Given the description of an element on the screen output the (x, y) to click on. 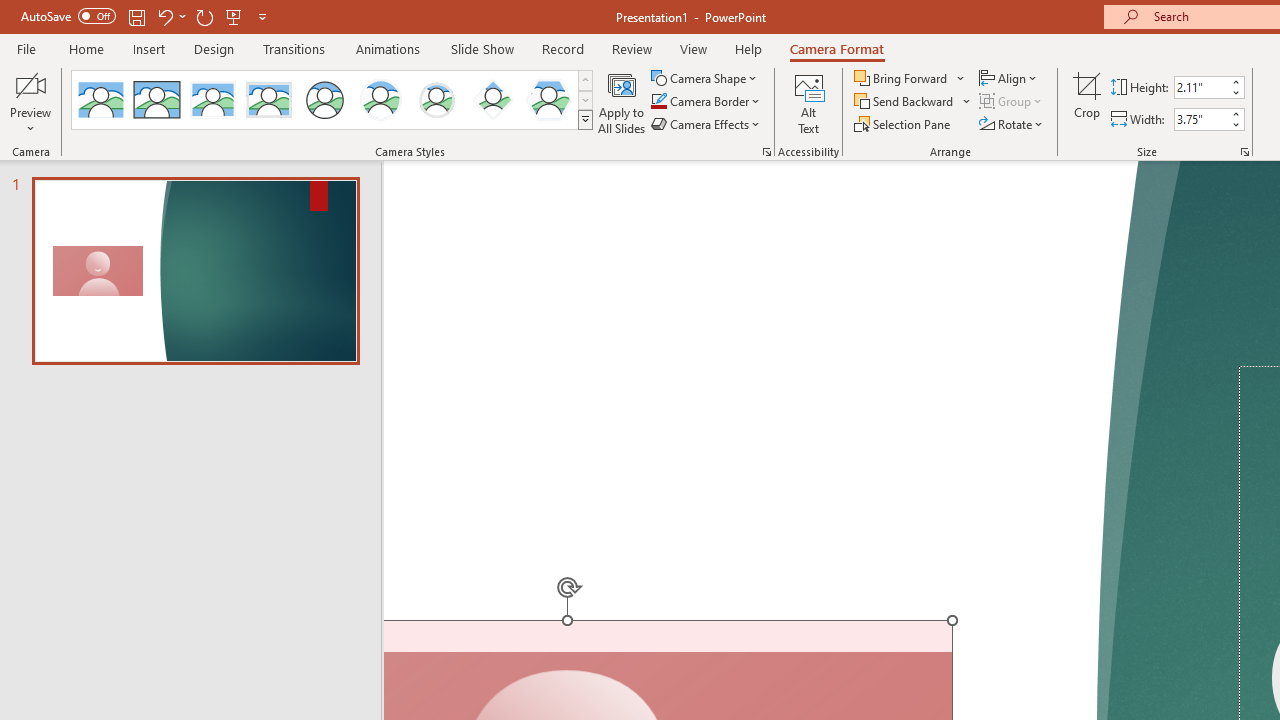
Bring Forward (910, 78)
AutomationID: CameoStylesGallery (333, 99)
